Given the description of an element on the screen output the (x, y) to click on. 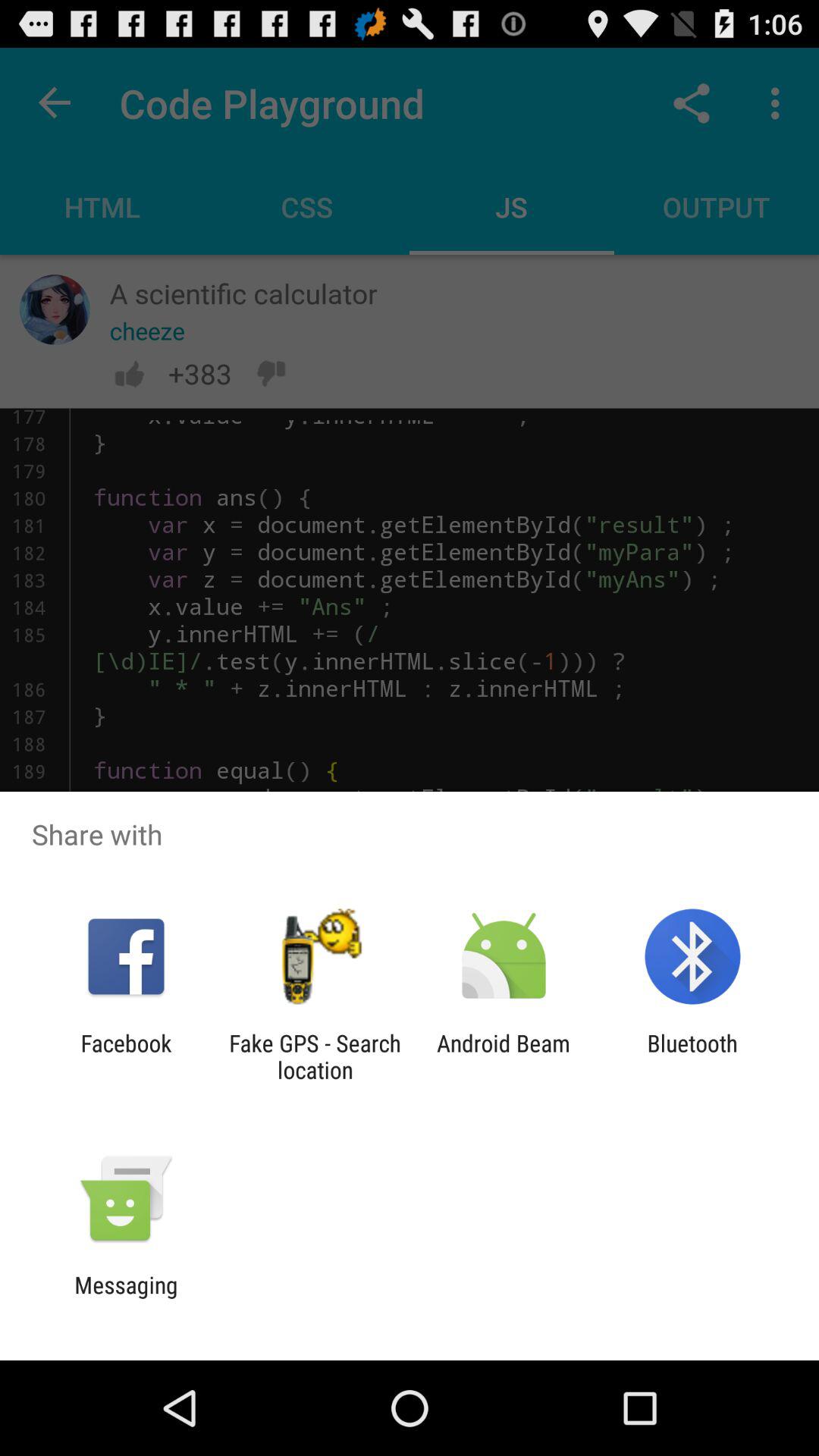
turn off facebook (125, 1056)
